Given the description of an element on the screen output the (x, y) to click on. 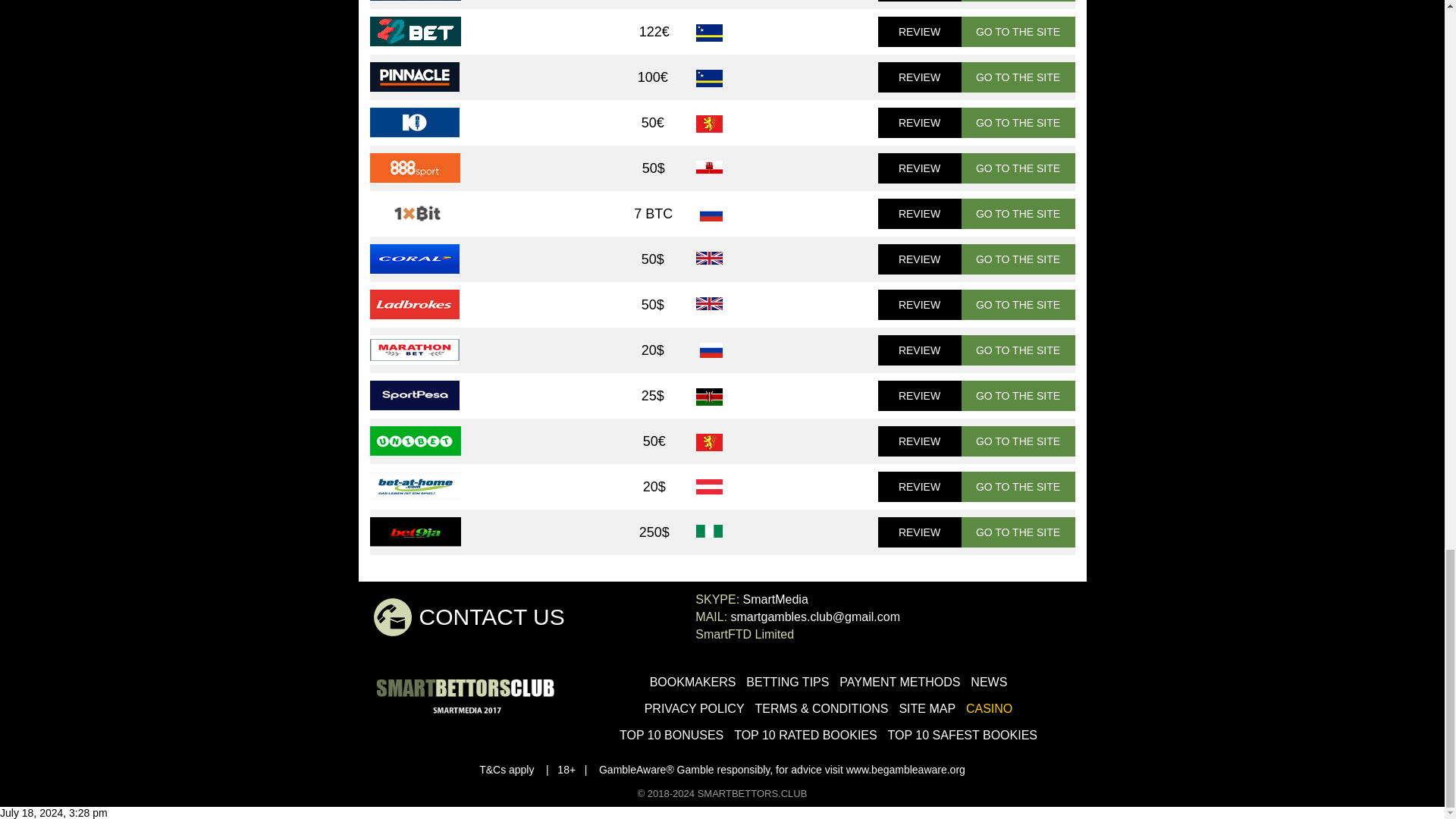
10Bet (414, 122)
Marathonbet (414, 349)
Pinnacle (414, 76)
GO TO THE SITE (1017, 122)
Bet-at-Home (415, 486)
GO TO THE SITE (1017, 259)
22Bet (415, 30)
REVIEW (918, 304)
1xbit (414, 213)
REVIEW (918, 122)
GO TO THE SITE (1017, 77)
SportPesa (414, 395)
bet9ja (415, 531)
Ladbrokes (414, 304)
REVIEW (918, 0)
